Given the description of an element on the screen output the (x, y) to click on. 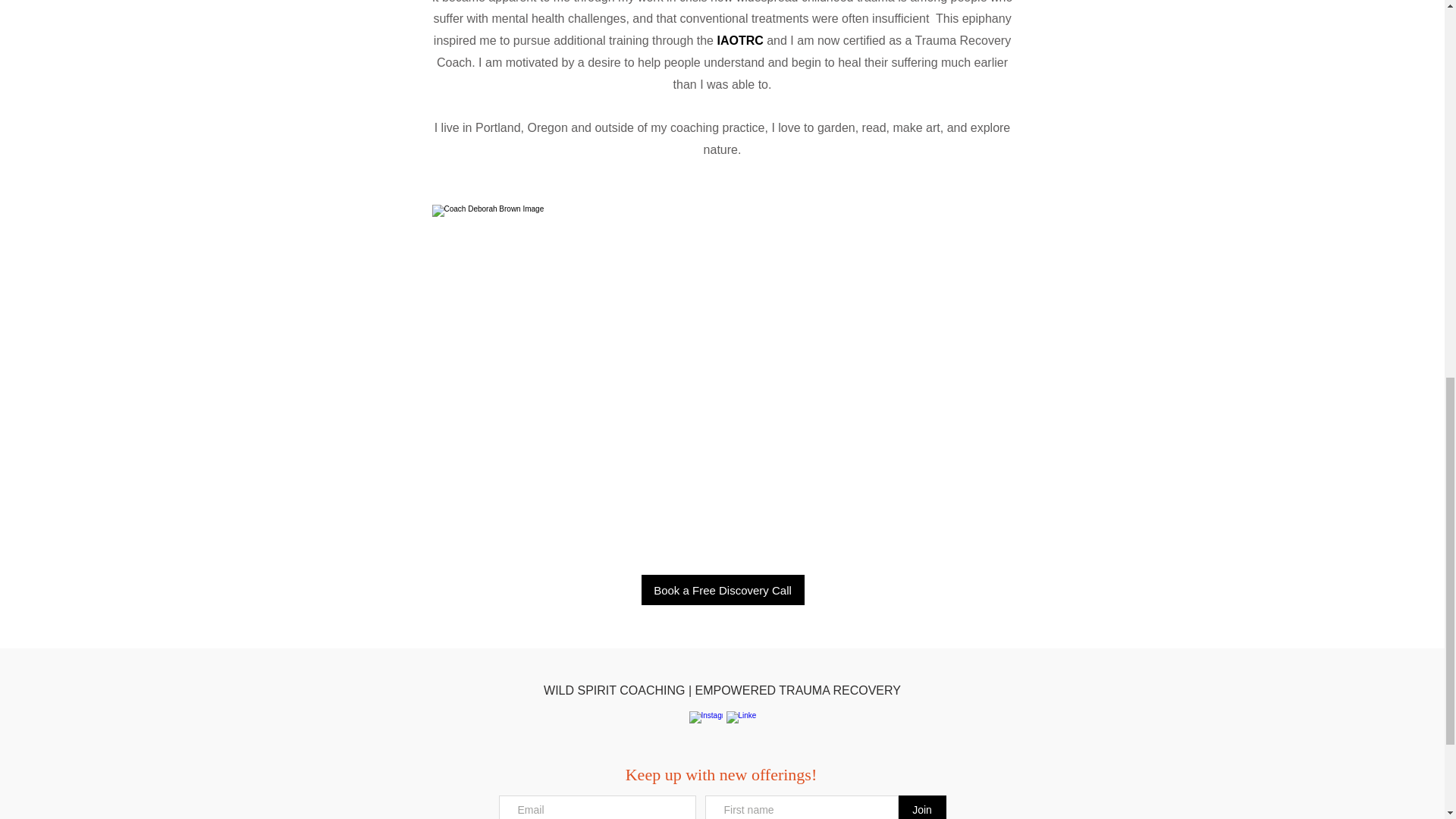
IAOTRC (739, 40)
Book a Free Discovery Call (723, 589)
Join (921, 807)
